Given the description of an element on the screen output the (x, y) to click on. 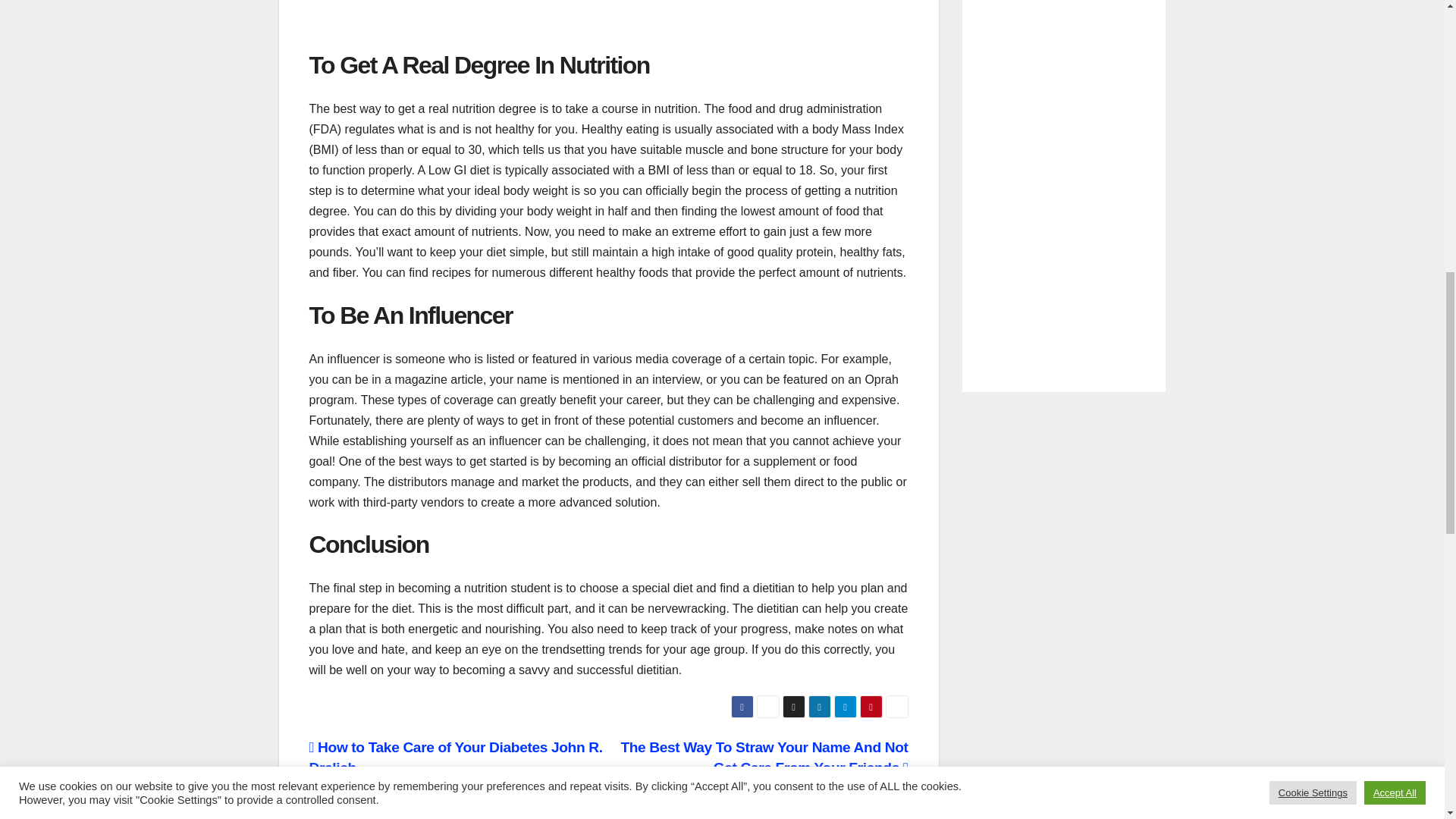
How to Take Care of Your Diabetes John R. Drelich (455, 757)
